Given the description of an element on the screen output the (x, y) to click on. 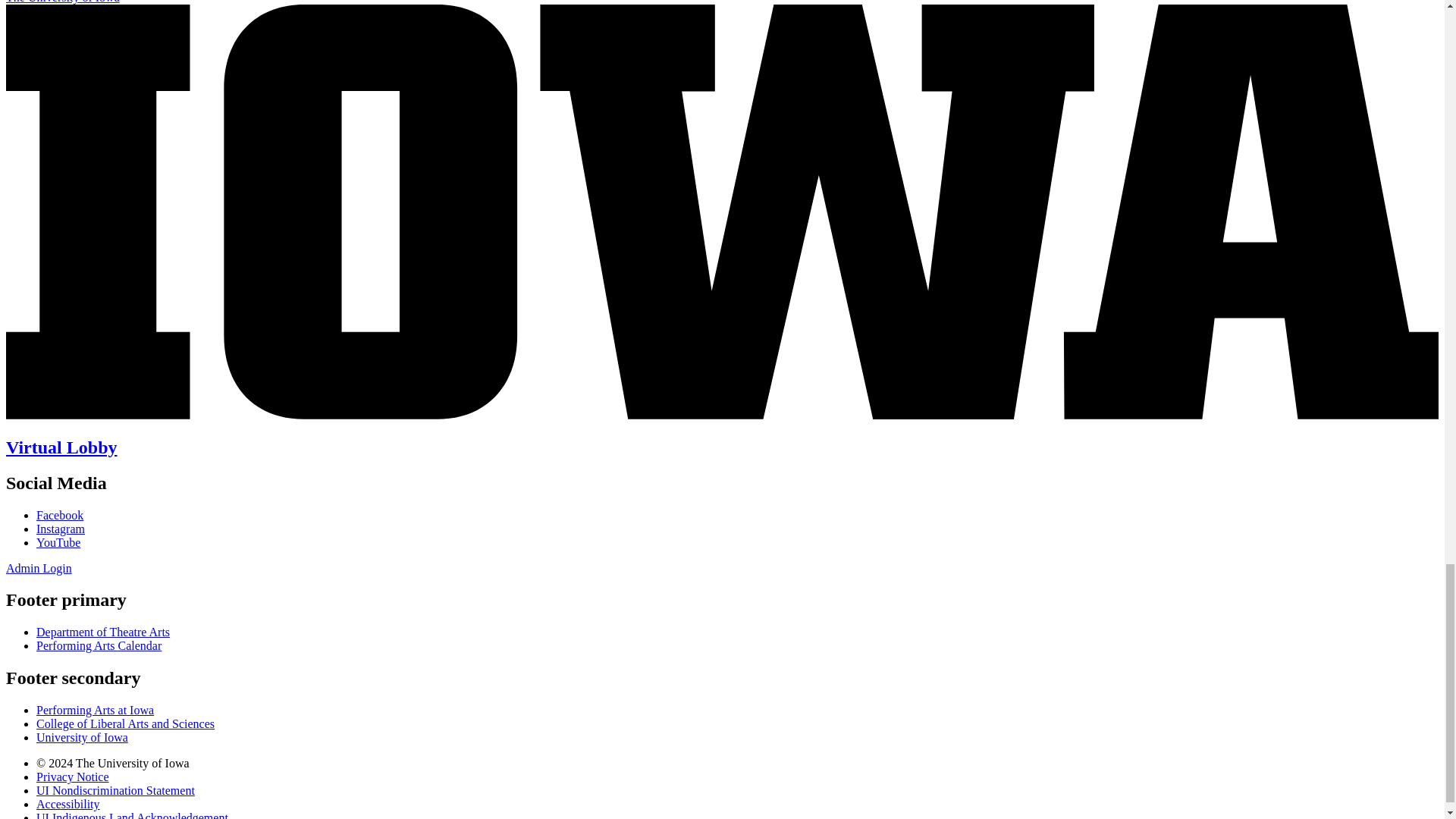
Department of Theatre Arts website (103, 631)
Department of Theatre Arts Instagram (60, 528)
College of Liberal Arts and Sciences website (125, 723)
University of Iowa website (82, 737)
Department of Theatre Arts Facebook (59, 514)
Performing Arts Calendar (98, 645)
